Given the description of an element on the screen output the (x, y) to click on. 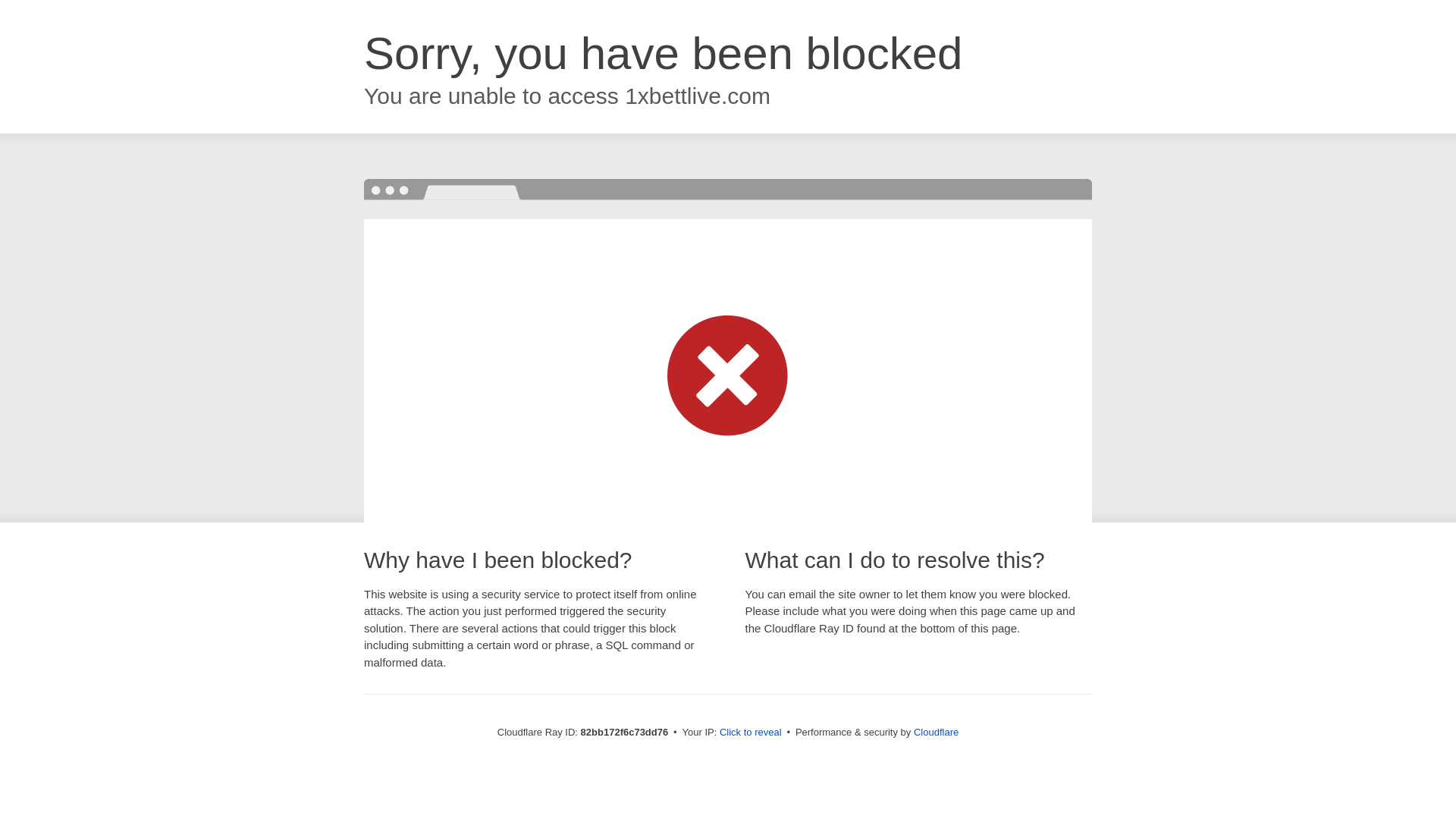
Click to reveal Element type: text (750, 732)
Cloudflare Element type: text (935, 731)
